Given the description of an element on the screen output the (x, y) to click on. 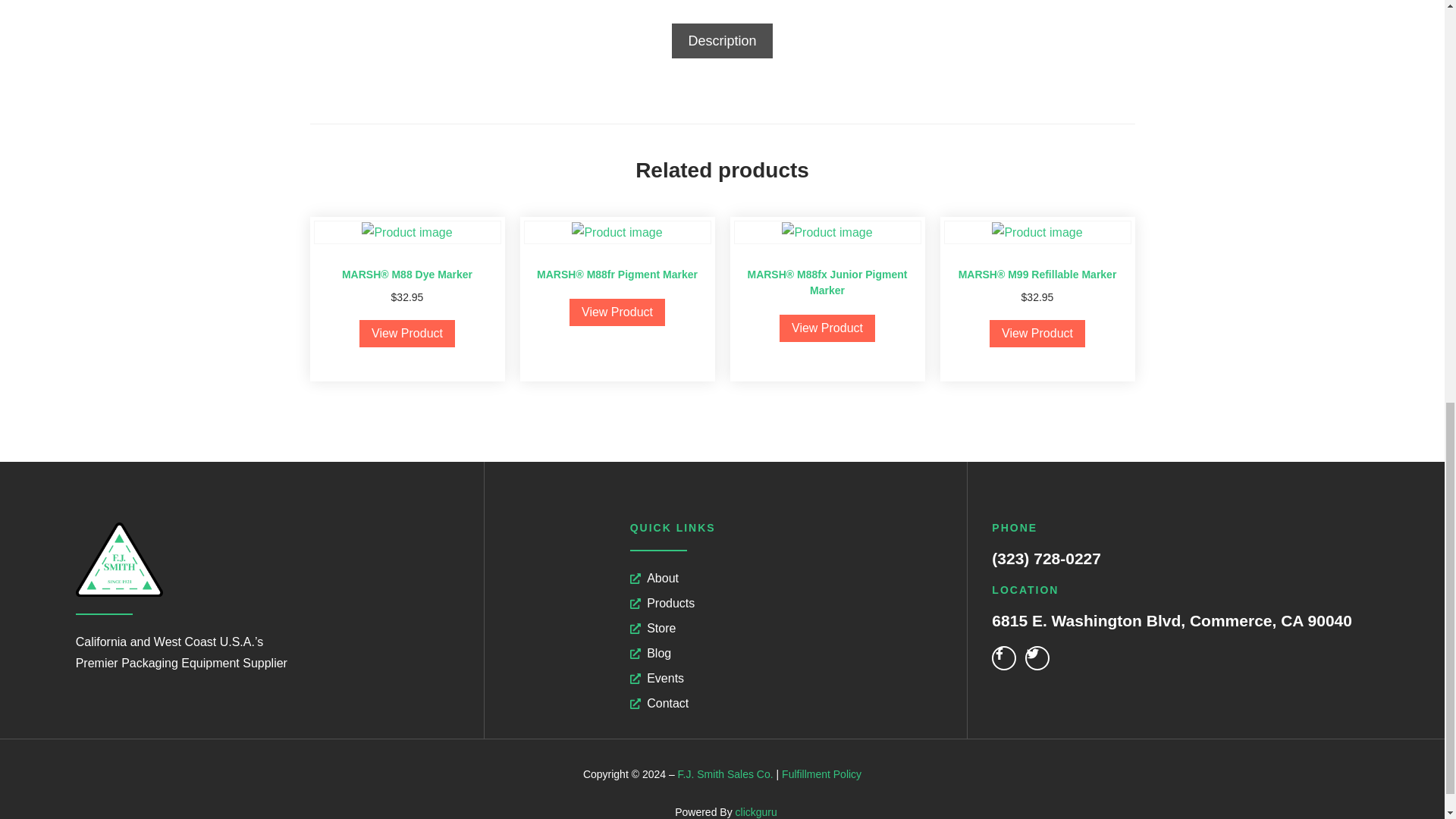
View Product (617, 311)
Description (722, 40)
View Product (406, 333)
